Given the description of an element on the screen output the (x, y) to click on. 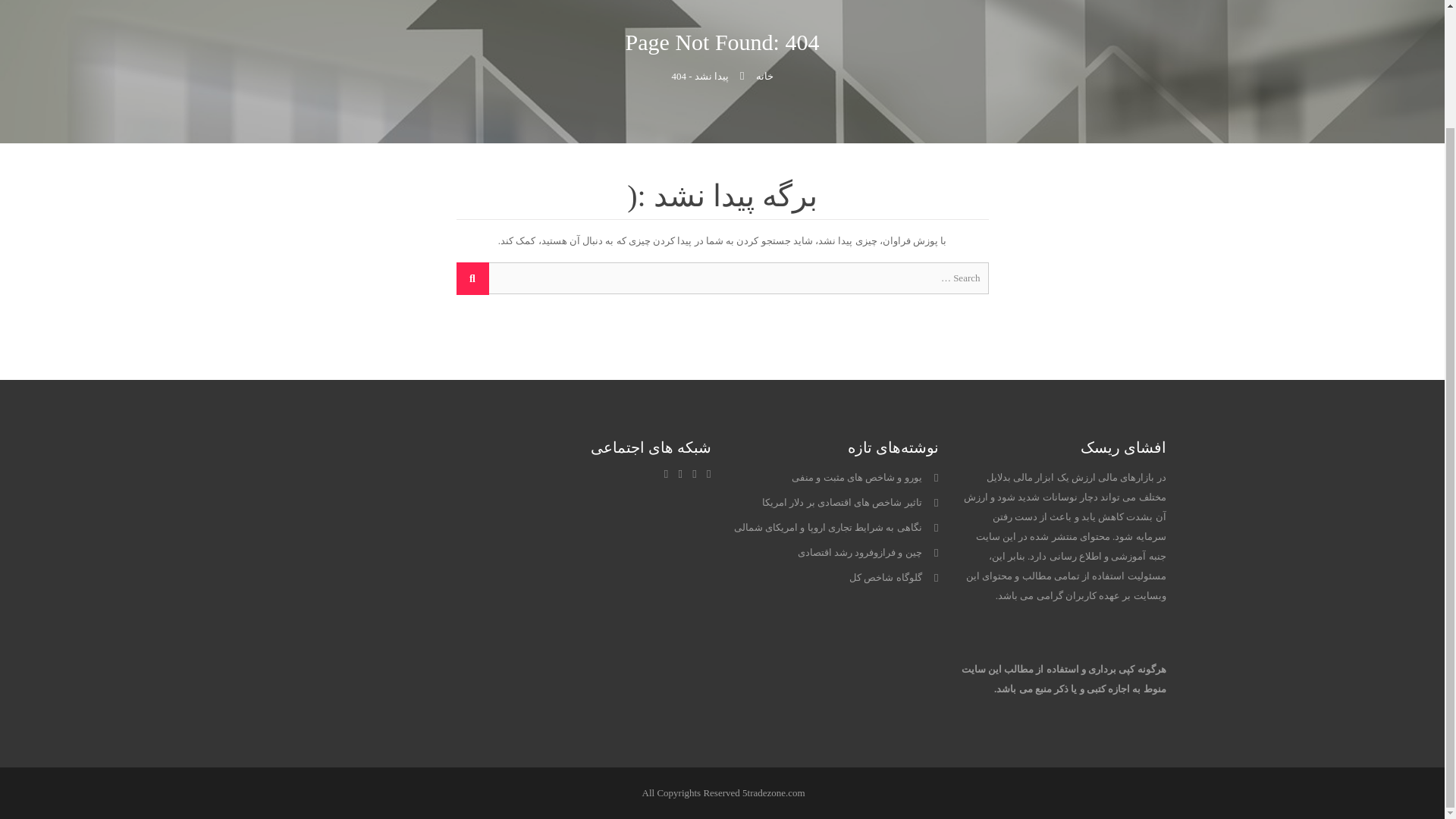
Search (473, 278)
